Given the description of an element on the screen output the (x, y) to click on. 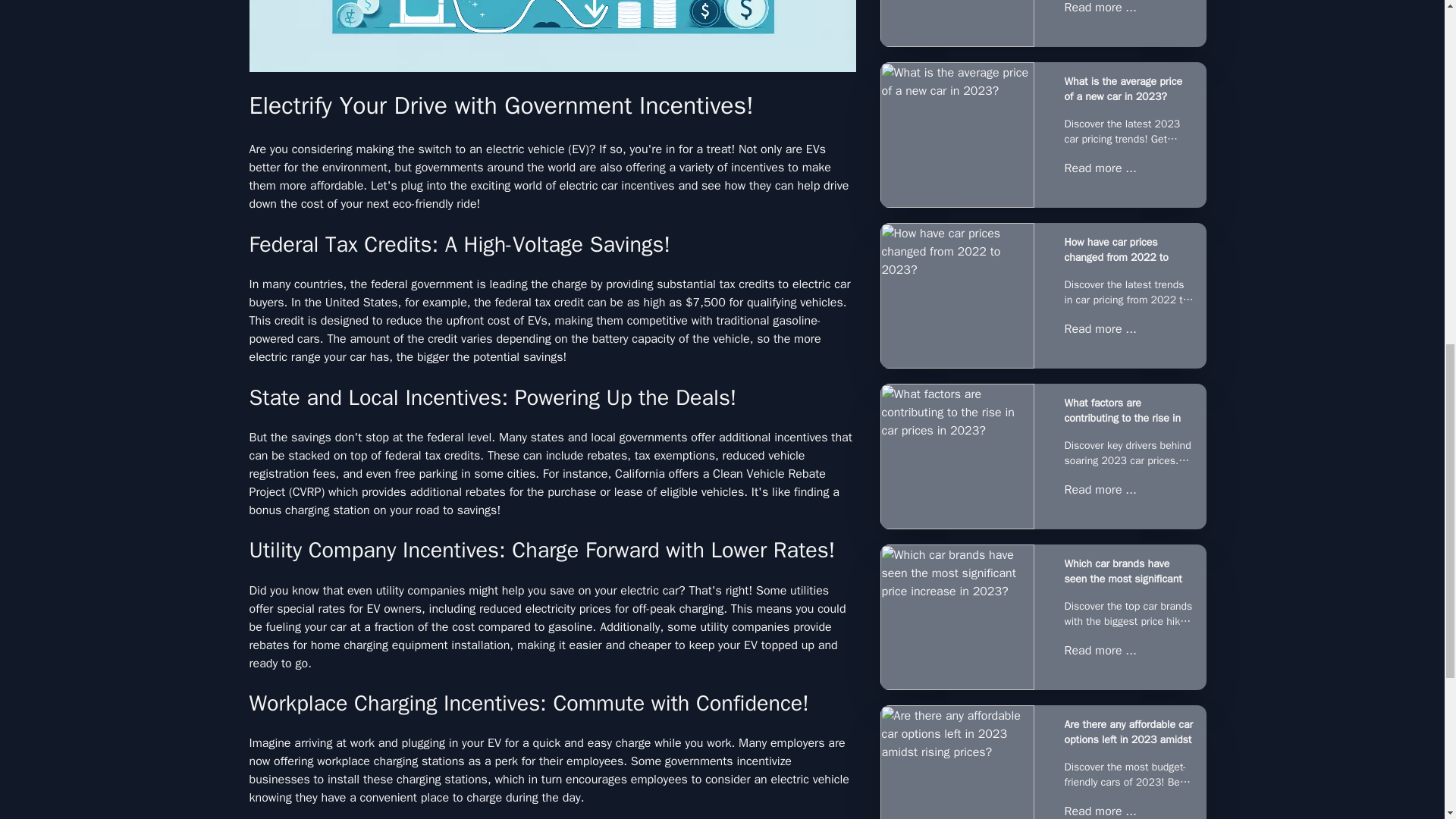
How have car prices changed from 2022 to 2023? (956, 295)
What is the average price of a new car in 2023? (1128, 89)
From Economy to Luxury: The Real Cost of Cars in 2023 (956, 23)
